Given the description of an element on the screen output the (x, y) to click on. 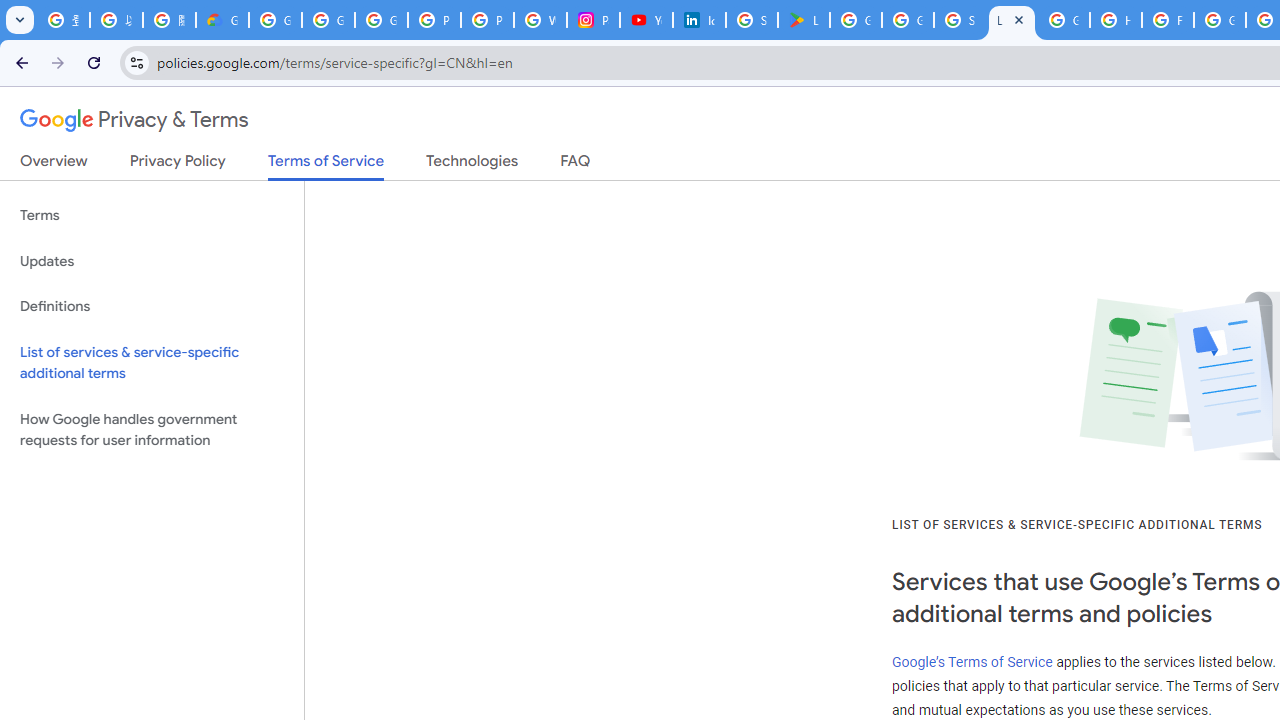
Google Workspace - Specific Terms (907, 20)
FAQ (575, 165)
Updates (152, 261)
Technologies (472, 165)
Privacy Policy (177, 165)
